Given the description of an element on the screen output the (x, y) to click on. 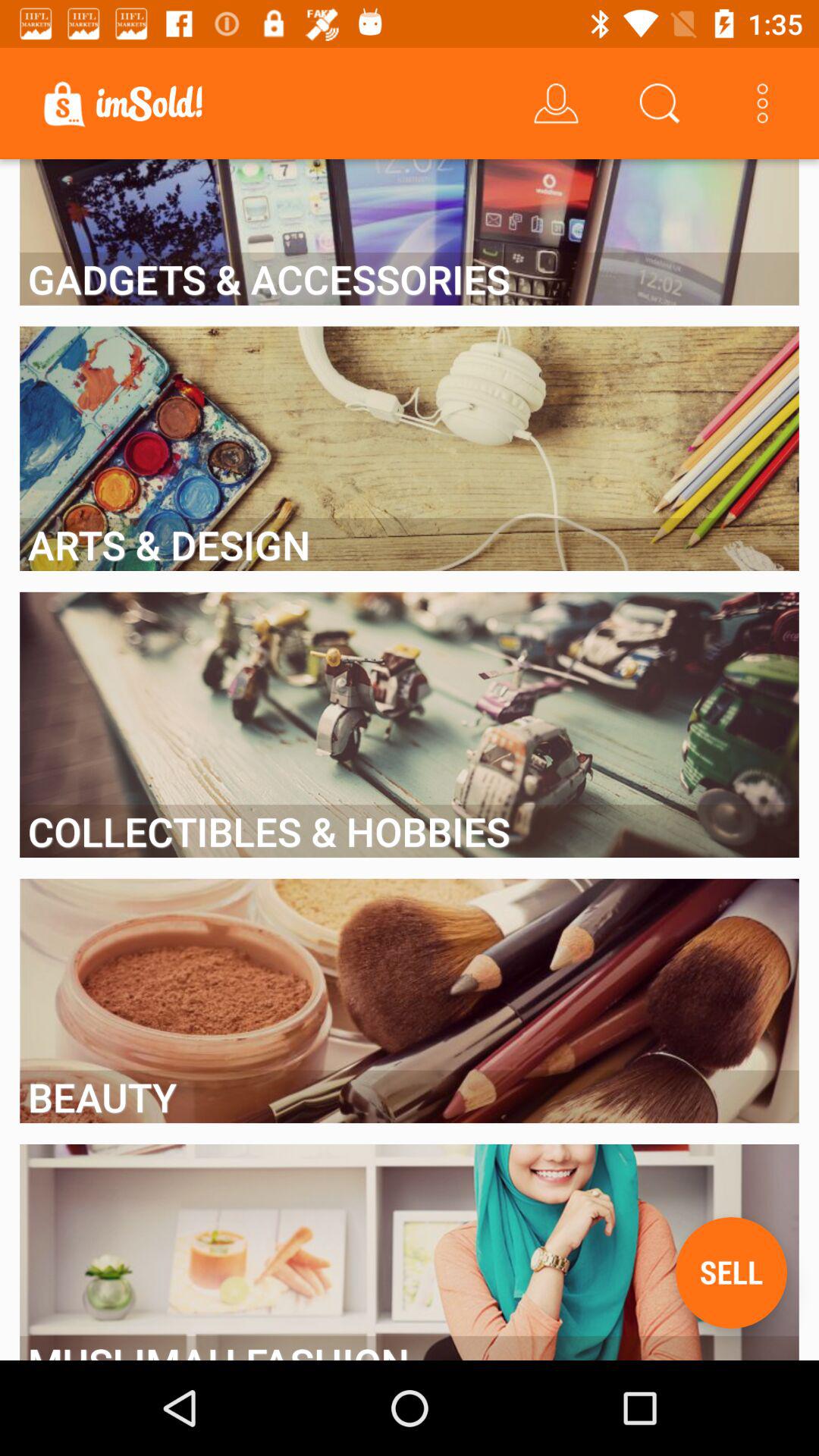
jump to gadgets & accessories (409, 278)
